Given the description of an element on the screen output the (x, y) to click on. 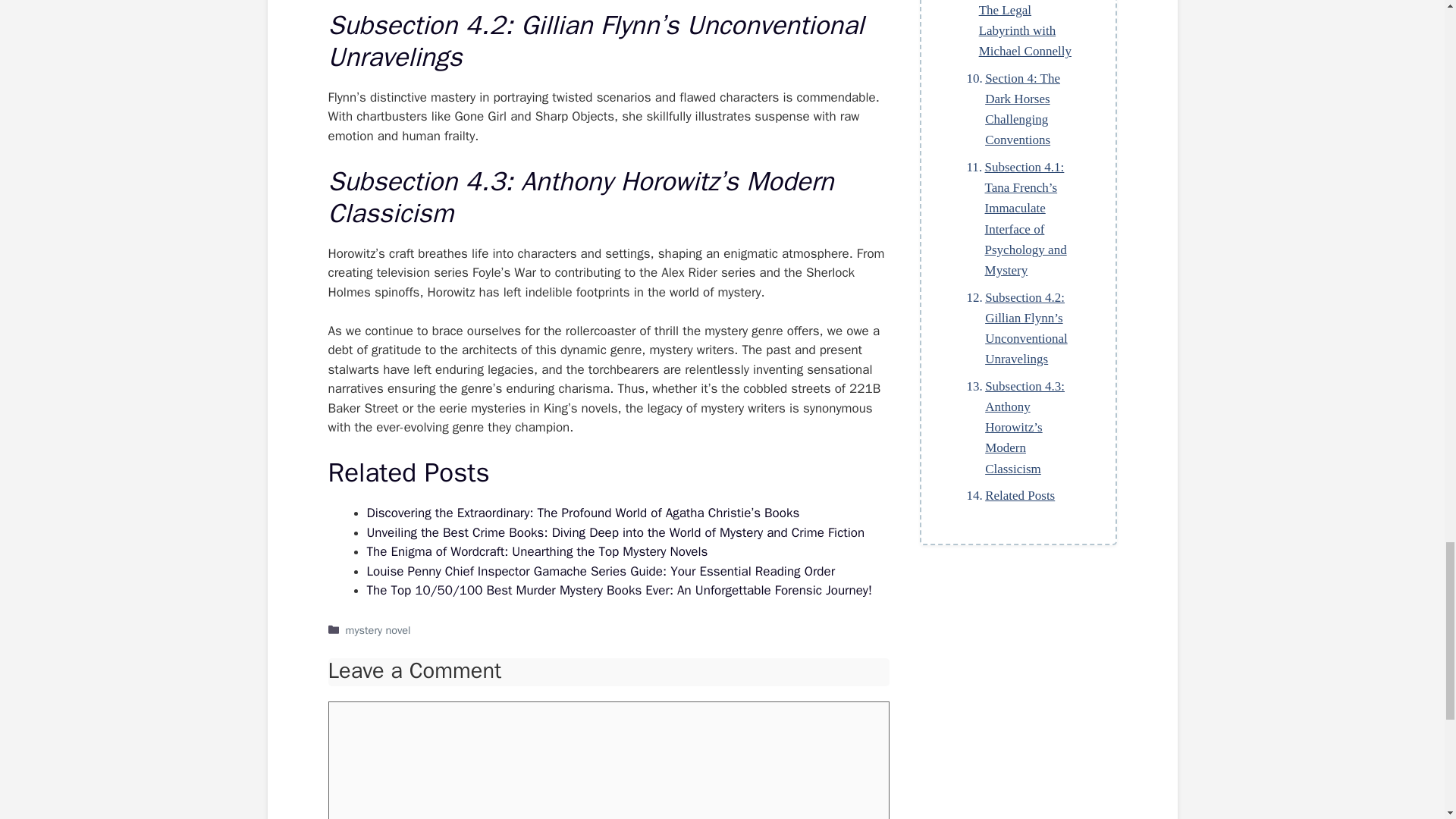
The Enigma of Wordcraft: Unearthing the Top Mystery Novels (536, 551)
mystery novel (378, 630)
